Given the description of an element on the screen output the (x, y) to click on. 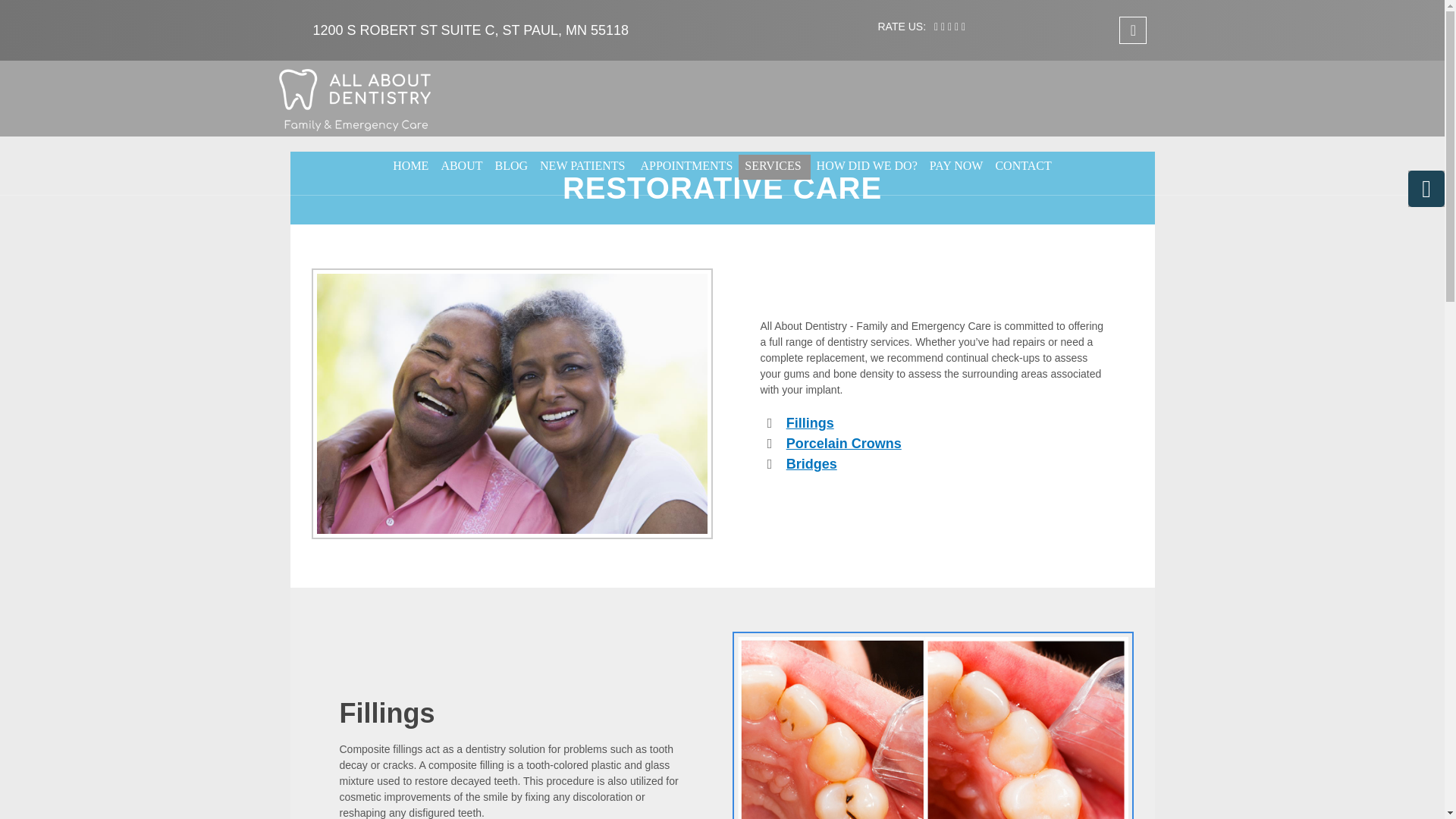
Porcelain Crowns (843, 443)
SERVICES (773, 166)
Fillings (810, 422)
HOME (410, 166)
APPOINTMENTS (685, 166)
PAY NOW (956, 166)
HOW DID WE DO? (866, 166)
CONTACT (1022, 166)
1200 S ROBERT ST SUITE C, ST PAUL, MN 55118 (470, 29)
ABOUT (460, 166)
NEW PATIENTS (583, 166)
Bridges (811, 463)
BLOG (510, 166)
